Given the description of an element on the screen output the (x, y) to click on. 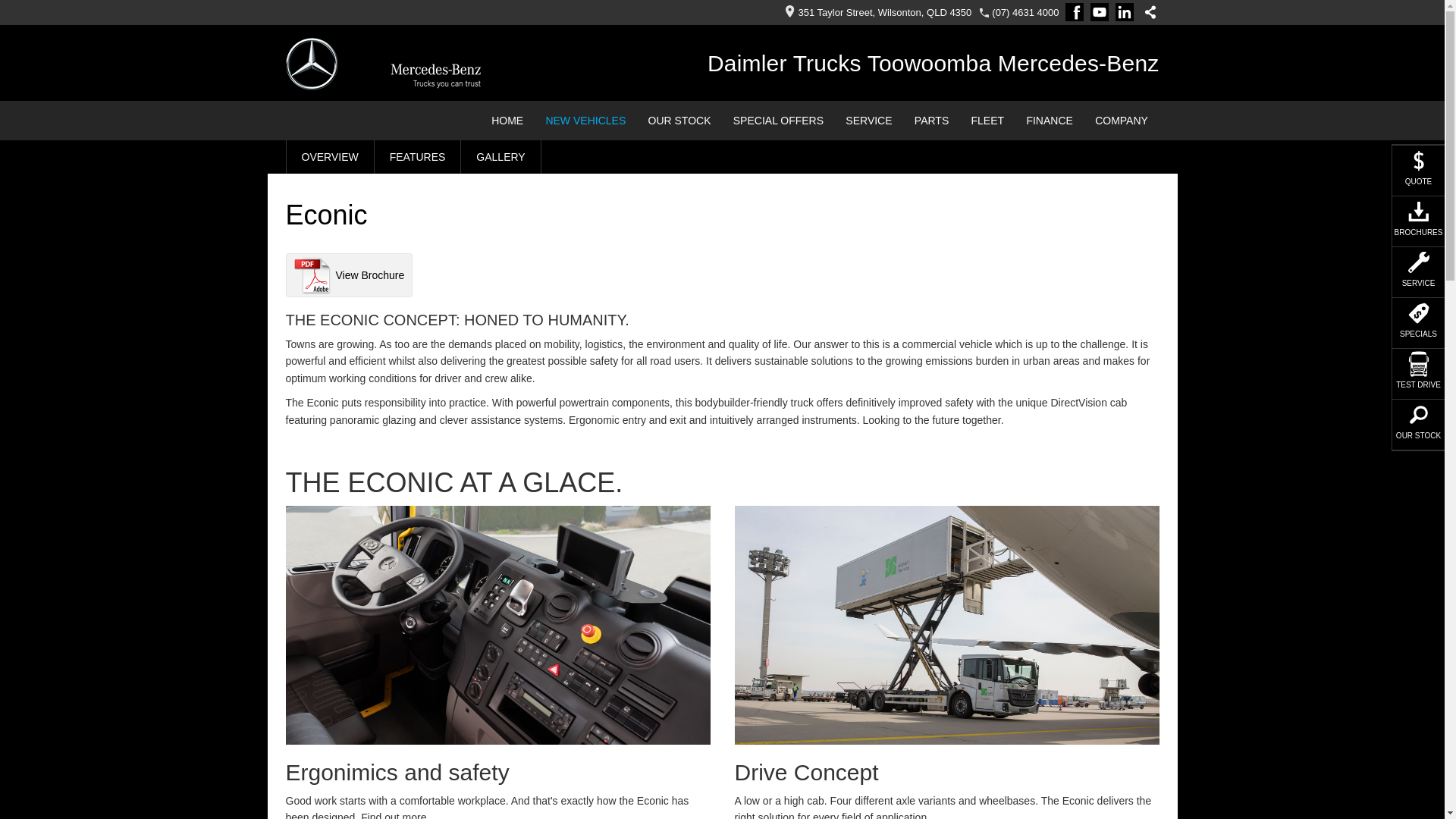
View Brochure Element type: text (348, 275)
FEATURES Element type: text (417, 156)
YouTube Element type: text (1102, 12)
Share this Element type: text (1145, 12)
SERVICE Element type: text (868, 120)
PARTS Element type: text (931, 120)
NEW VEHICLES Element type: text (585, 120)
COMPANY Element type: text (1120, 120)
FLEET Element type: text (987, 120)
SPECIAL OFFERS Element type: text (777, 120)
(07) 4631 4000 Element type: text (1024, 12)
OUR STOCK Element type: text (679, 120)
FINANCE Element type: text (1049, 120)
HOME Element type: text (507, 120)
Facebook Element type: text (1076, 12)
GALLERY Element type: text (500, 156)
LinkedIn Element type: text (1126, 12)
OVERVIEW Element type: text (329, 156)
351 Taylor Street, Wilsonton, QLD 4350 Element type: text (874, 12)
